Given the description of an element on the screen output the (x, y) to click on. 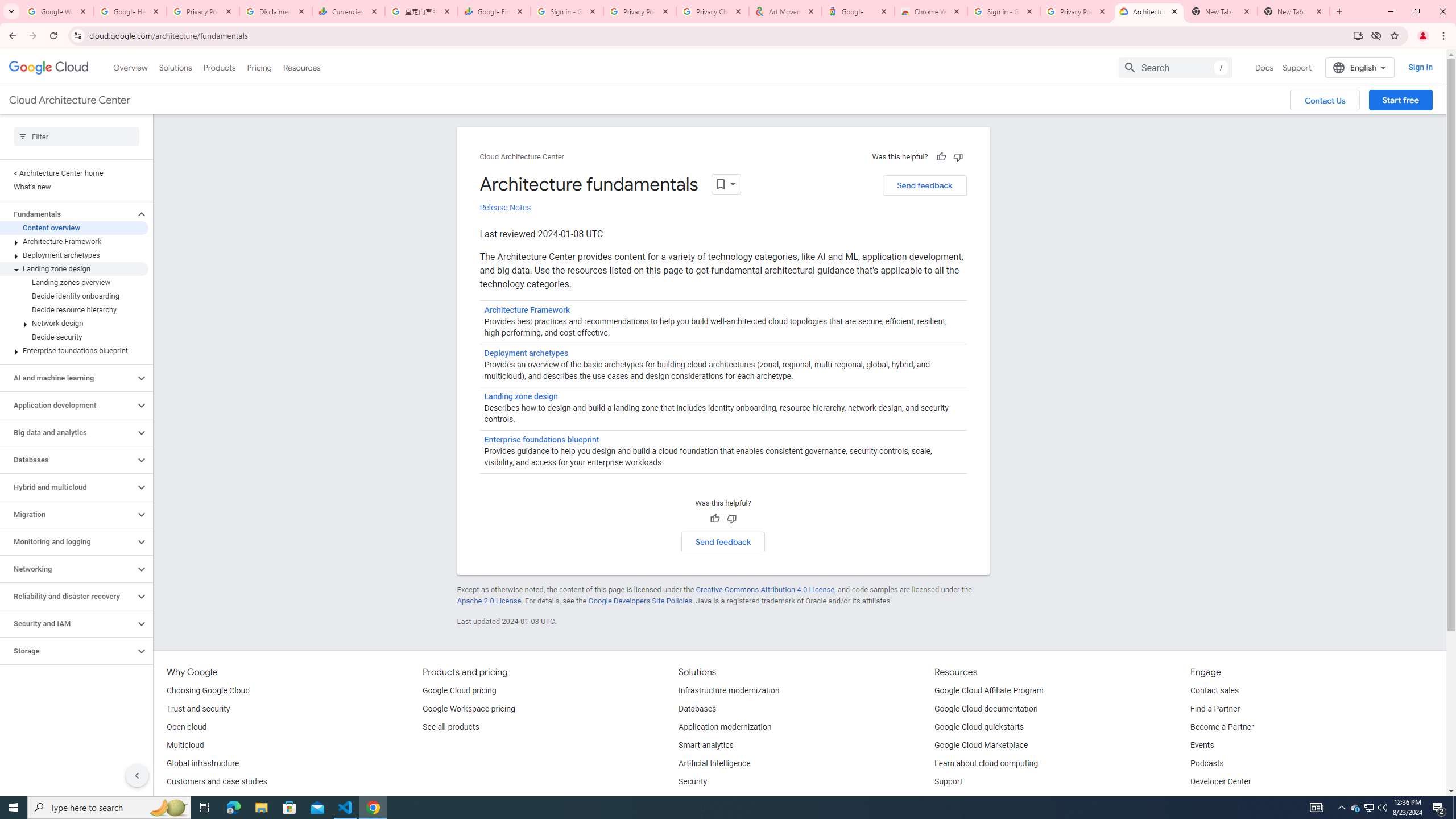
Google Cloud Marketplace (980, 745)
Landing zone design (520, 396)
Google Cloud documentation (986, 709)
Storage (67, 650)
Sign in - Google Accounts (566, 11)
Resources (301, 67)
Start free (1400, 100)
Global infrastructure (201, 764)
Open cloud (185, 727)
AI and machine learning (67, 377)
